Given the description of an element on the screen output the (x, y) to click on. 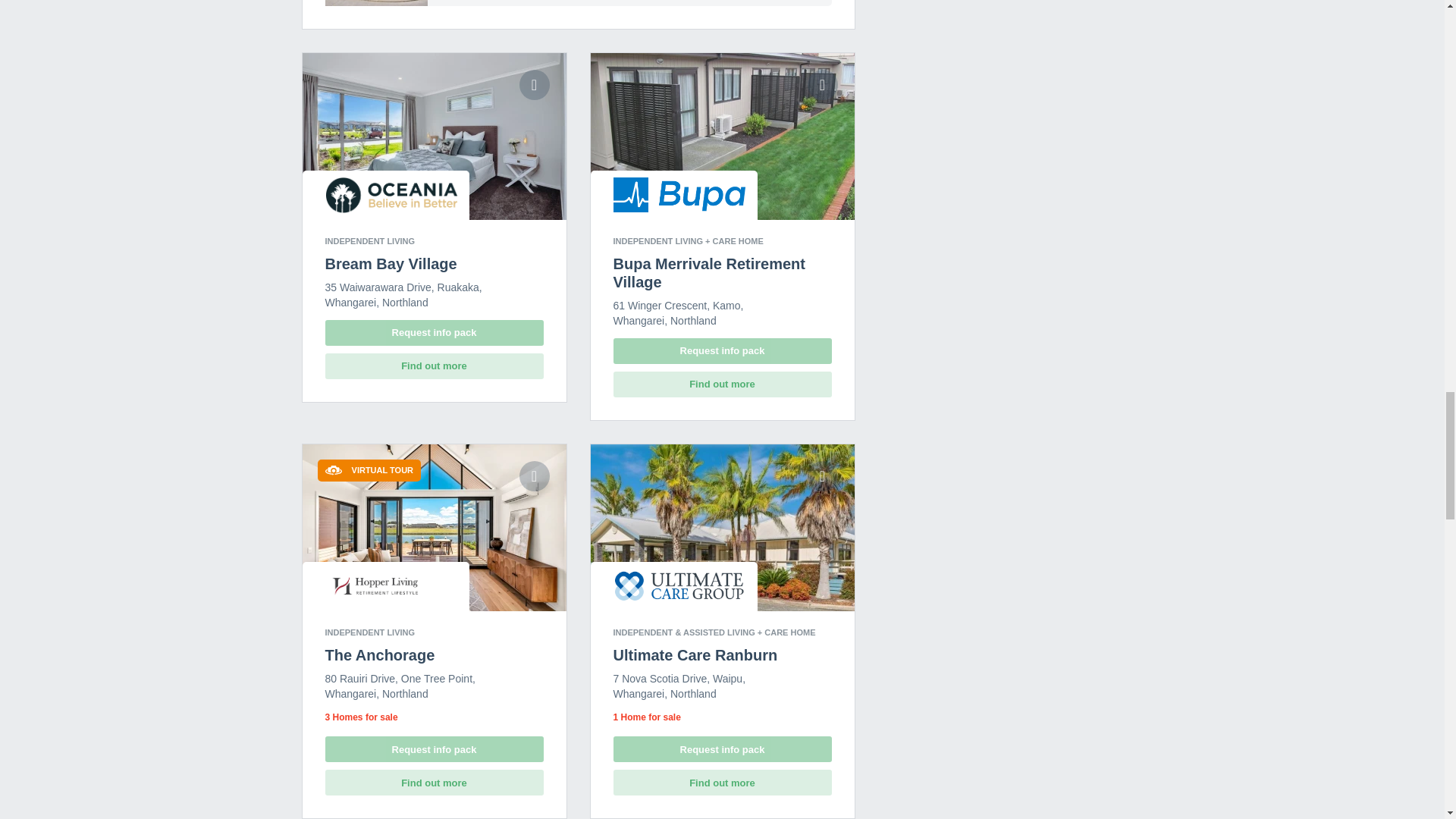
Oceania logo (390, 194)
Bupa logo (678, 194)
Hopper Living logo (373, 586)
Ultimate Care Group logo (678, 585)
